Given the description of an element on the screen output the (x, y) to click on. 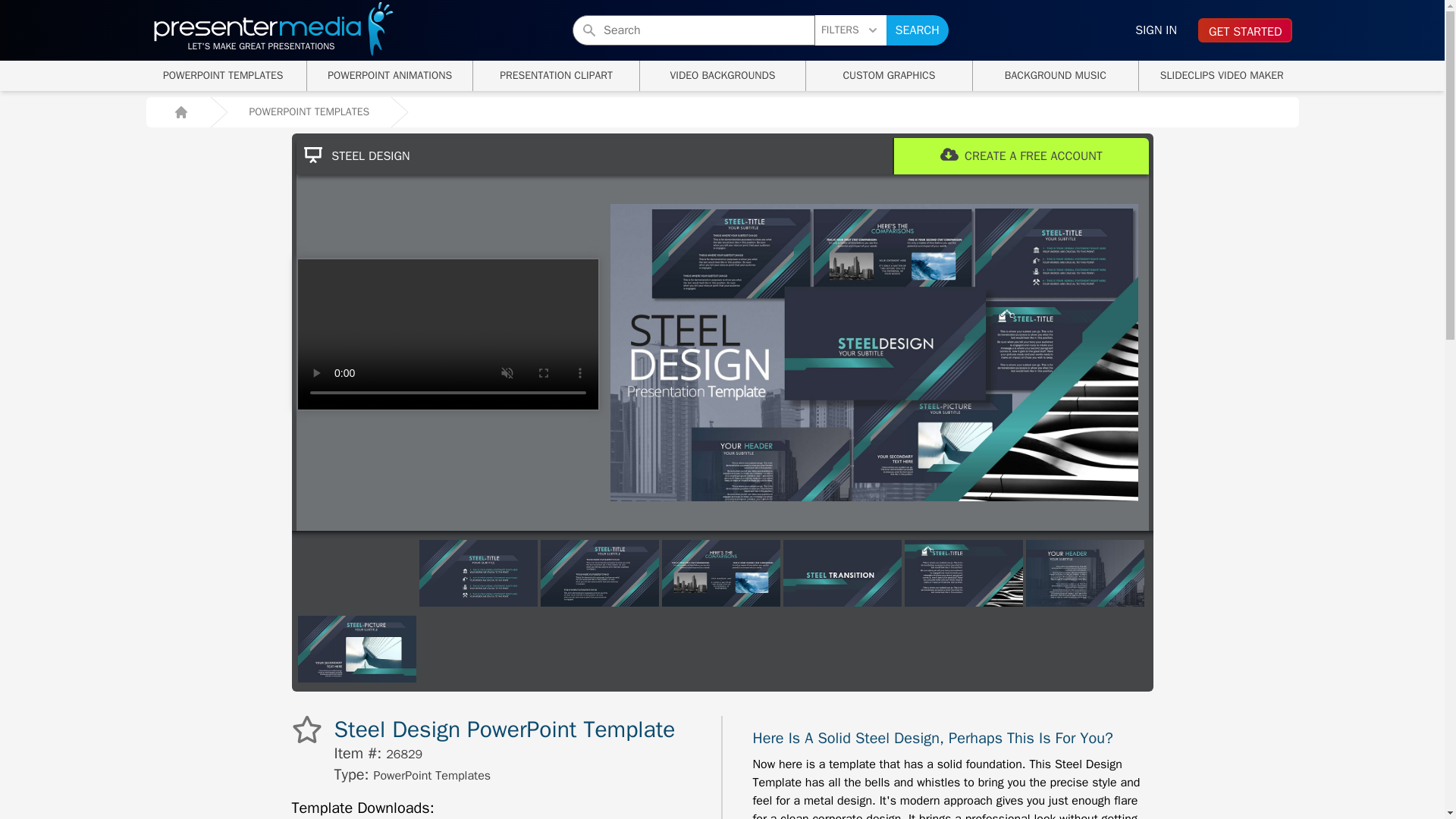
SEARCH (917, 30)
FILTERS (850, 30)
SIGN IN (1155, 30)
GET STARTED (1245, 30)
LET'S MAKE GREAT PRESENTATIONS (389, 75)
Sign in to add to favorites (272, 36)
Create Free Account (222, 75)
